Given the description of an element on the screen output the (x, y) to click on. 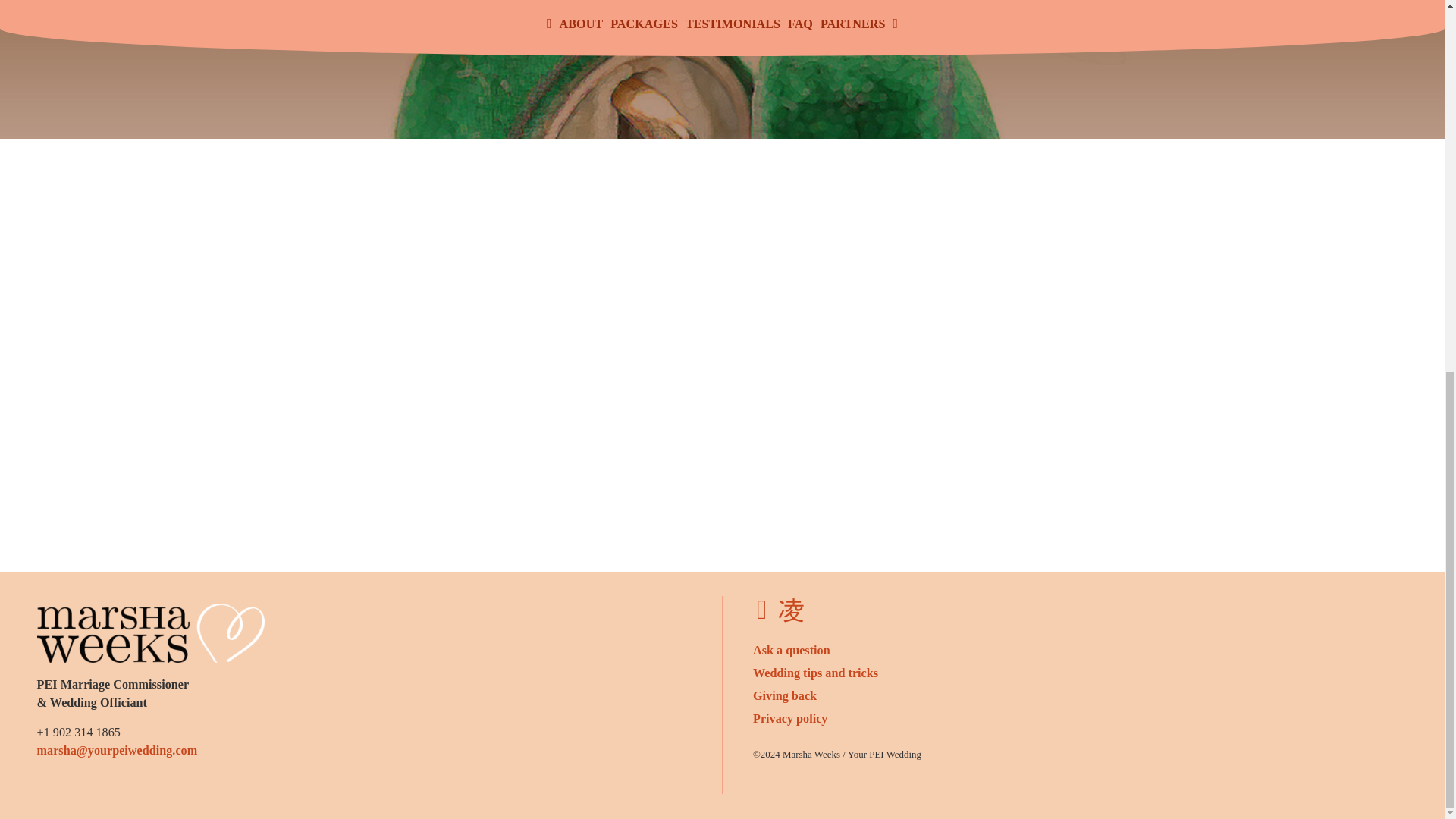
Privacy policy (789, 718)
All postings (814, 673)
Wedding tips and tricks (814, 673)
Giving back (784, 695)
Ask a question (790, 650)
